Given the description of an element on the screen output the (x, y) to click on. 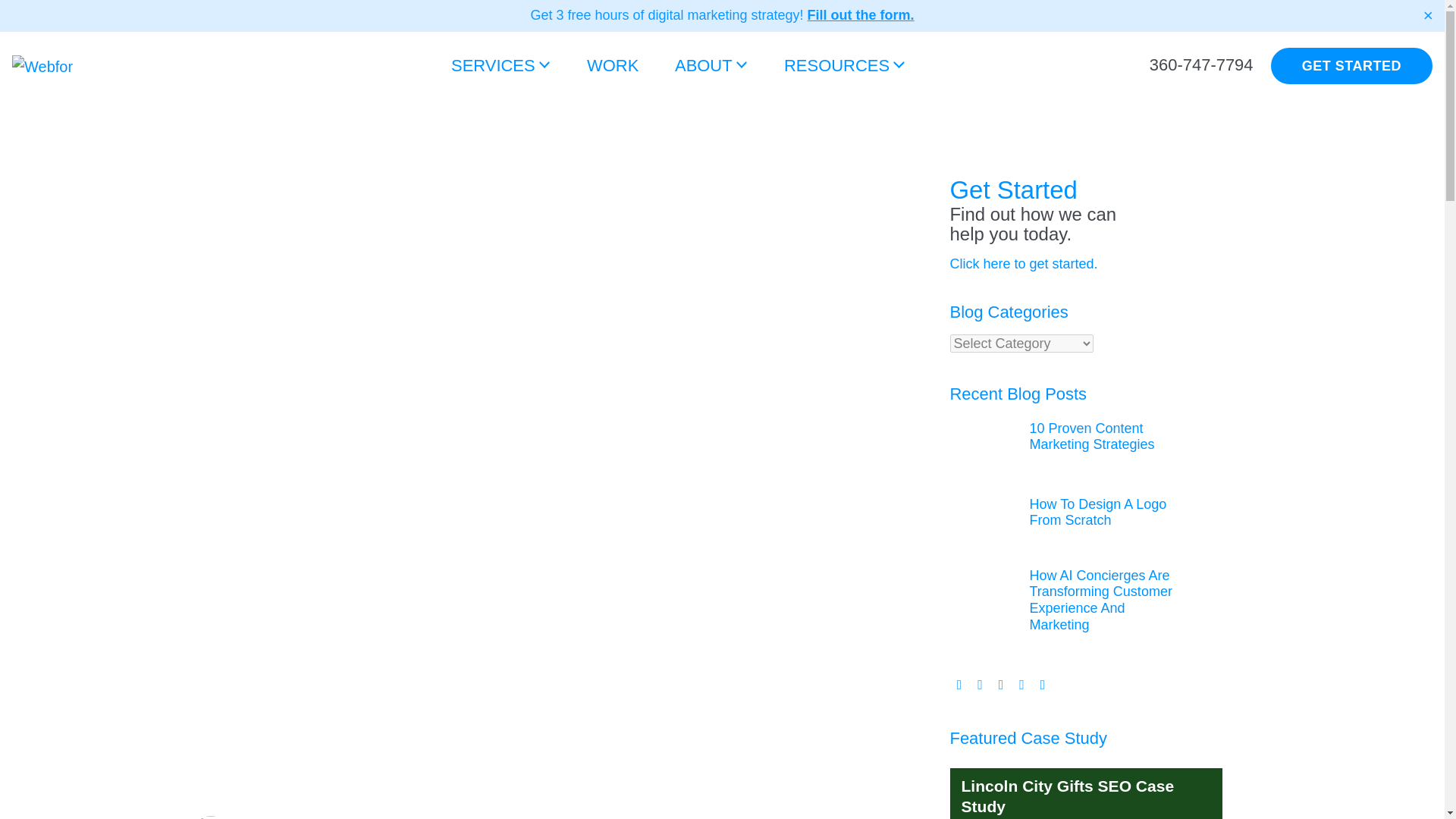
Fill out the form. (861, 14)
SERVICES (499, 65)
ABOUT (710, 65)
GET STARTED (1351, 65)
360-747-7794 (1201, 64)
RESOURCES (844, 65)
About (710, 65)
Services (499, 65)
Work (612, 65)
WORK (612, 65)
